Given the description of an element on the screen output the (x, y) to click on. 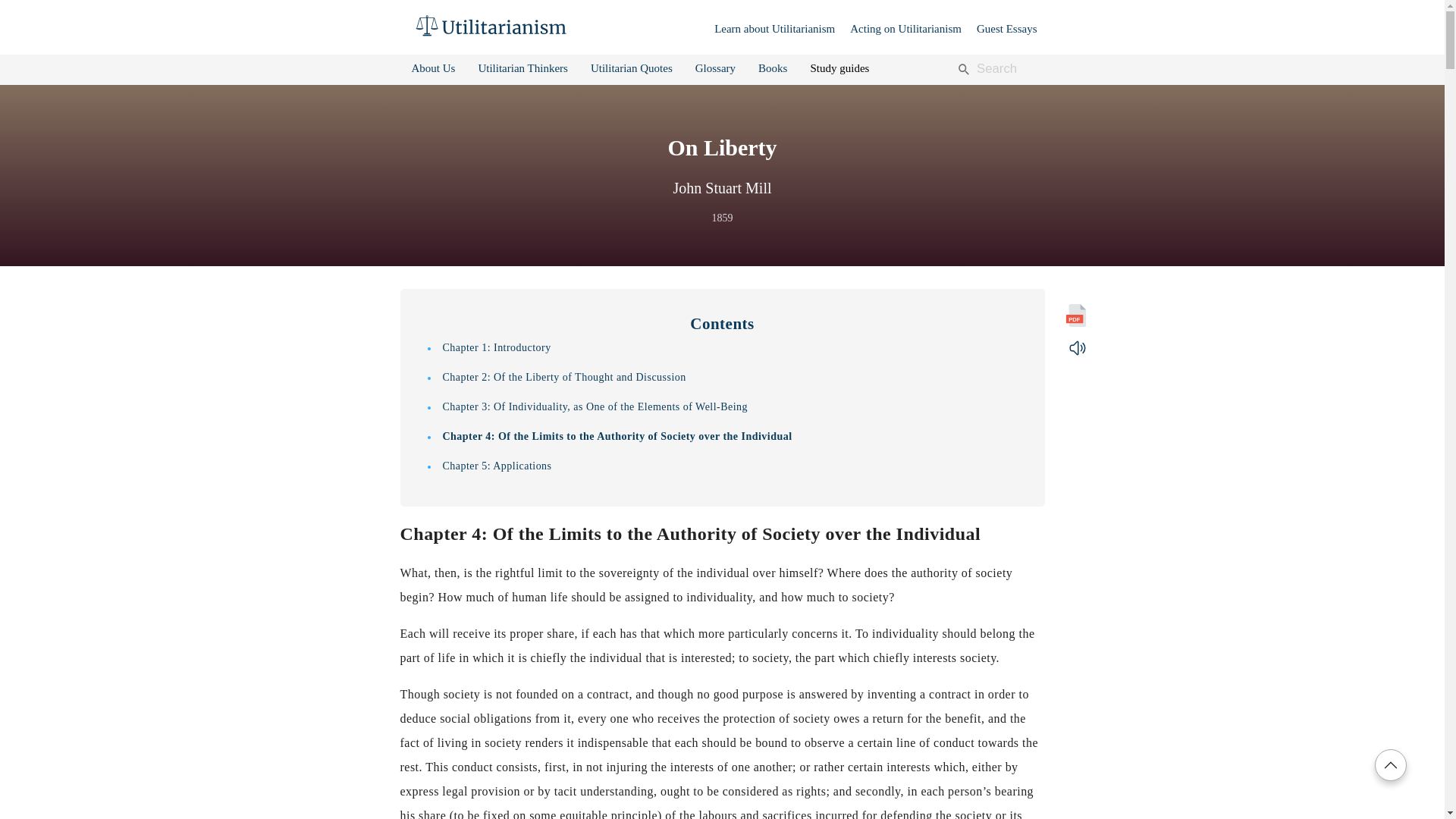
Guest Essays (1006, 28)
About Us (432, 68)
Utilitarian Quotes (631, 68)
Glossary (715, 68)
Learn about Utilitarianism (774, 28)
Utilitarian Thinkers (522, 68)
Acting on Utilitarianism (905, 28)
Books (772, 68)
